Given the description of an element on the screen output the (x, y) to click on. 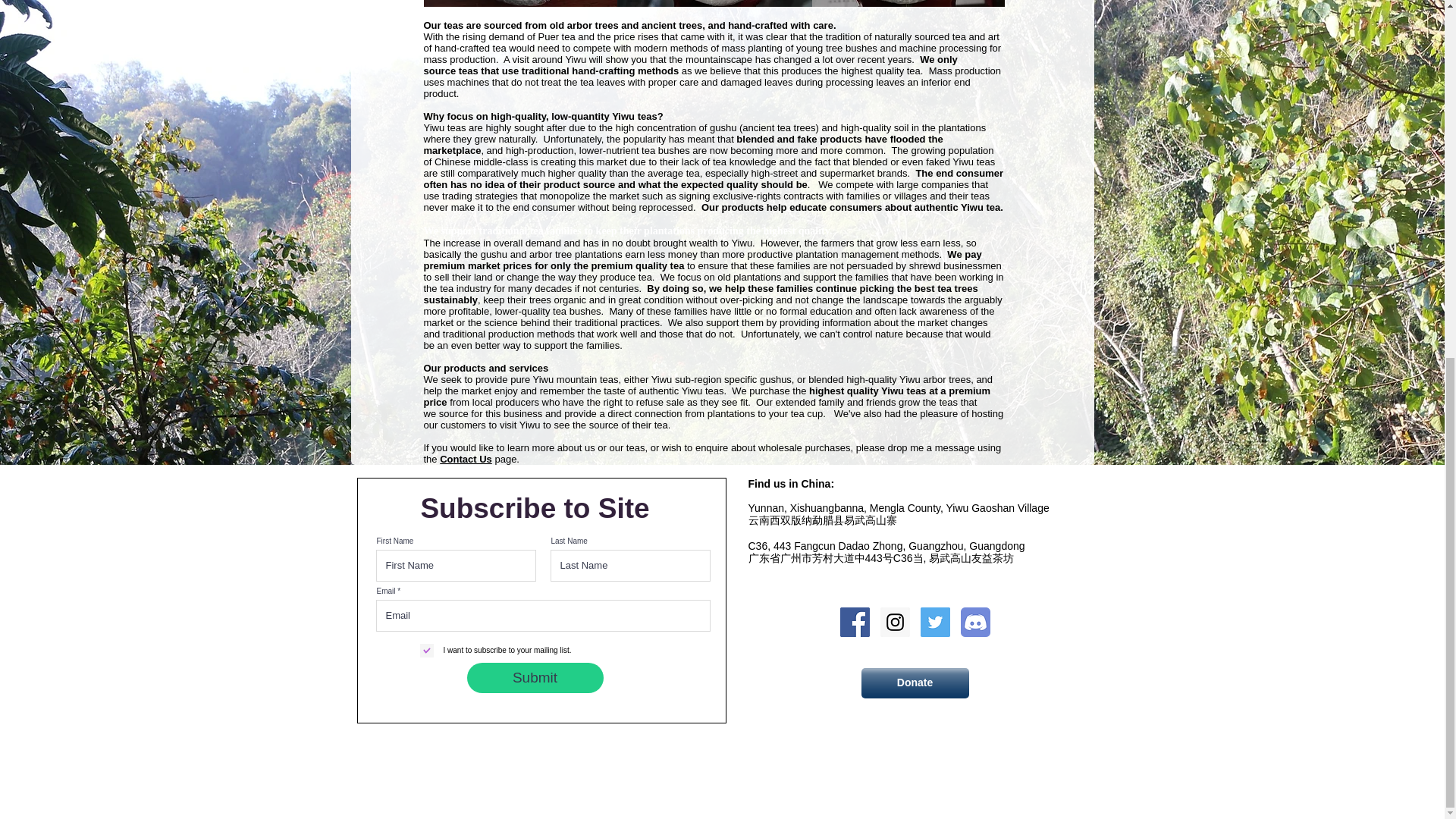
User Agreement (723, 802)
Contact Us (465, 459)
Donate (915, 683)
Submit (535, 677)
